Given the description of an element on the screen output the (x, y) to click on. 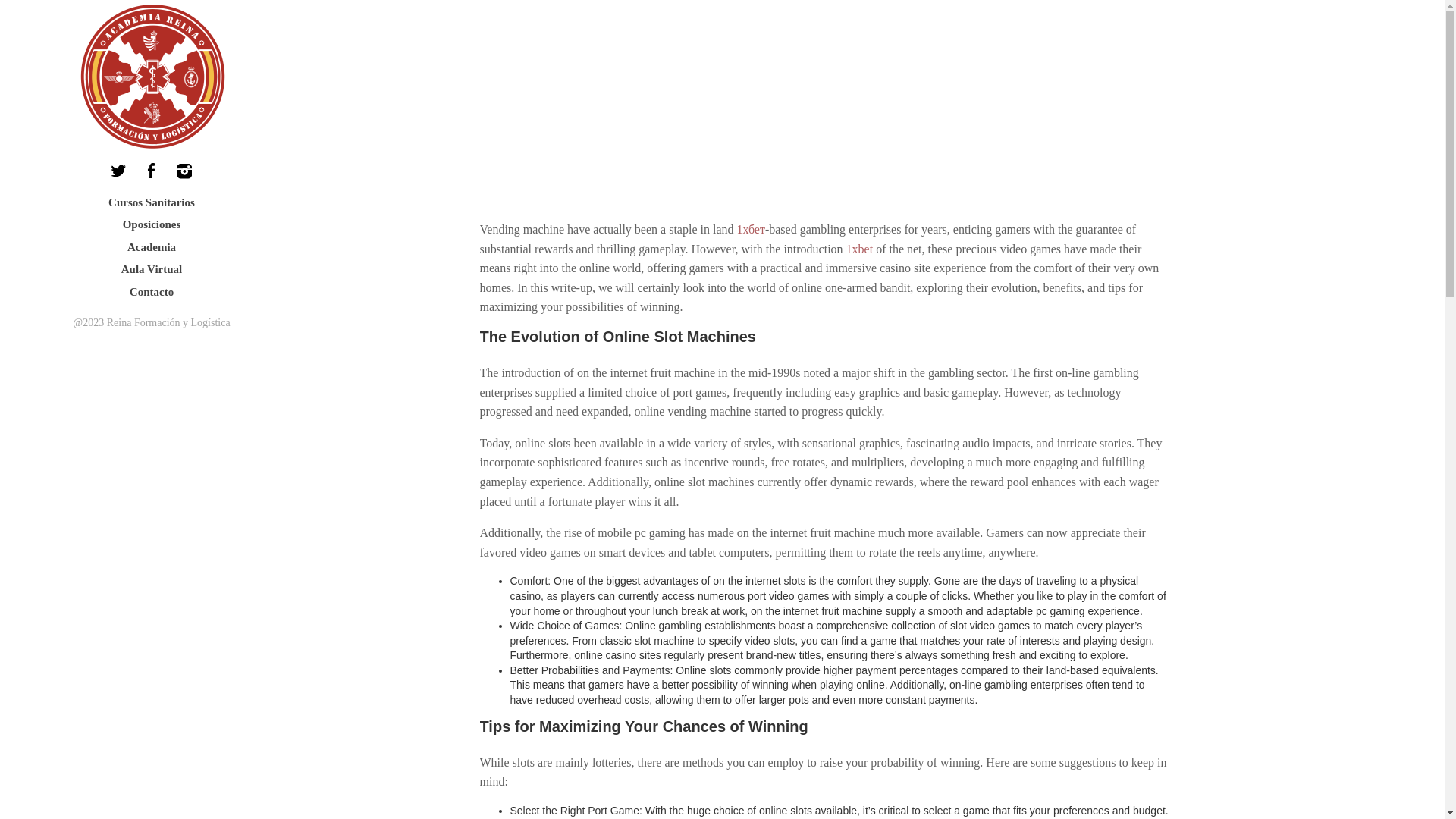
Contacto (151, 292)
Aula Virtual (151, 269)
Oposiciones (151, 224)
Academia (151, 247)
Cursos Sanitarios (151, 202)
